Given the description of an element on the screen output the (x, y) to click on. 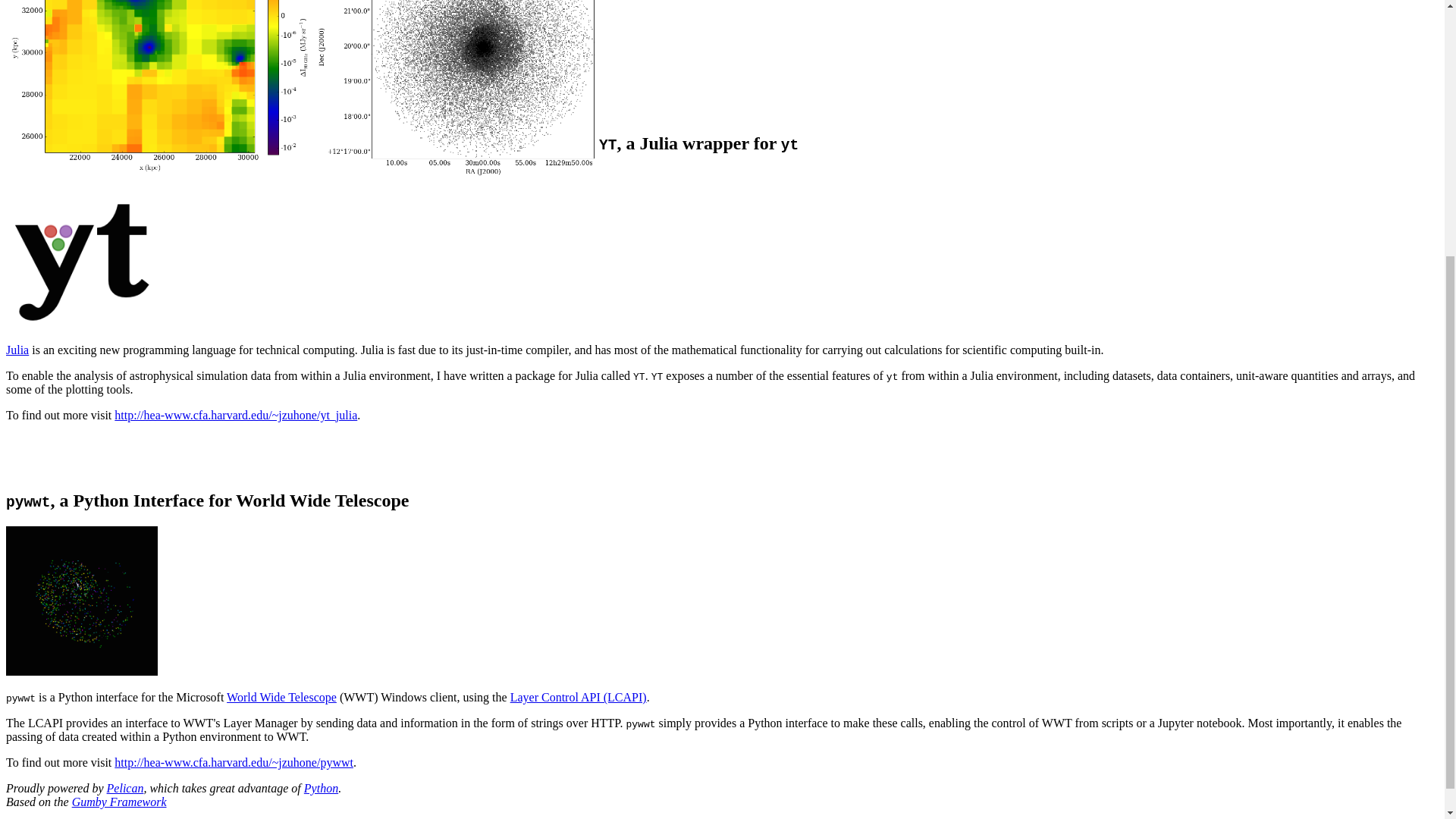
World Wide Telescope (281, 697)
Python (320, 788)
Julia (17, 349)
Pelican (125, 788)
Gumby Framework (119, 801)
